Given the description of an element on the screen output the (x, y) to click on. 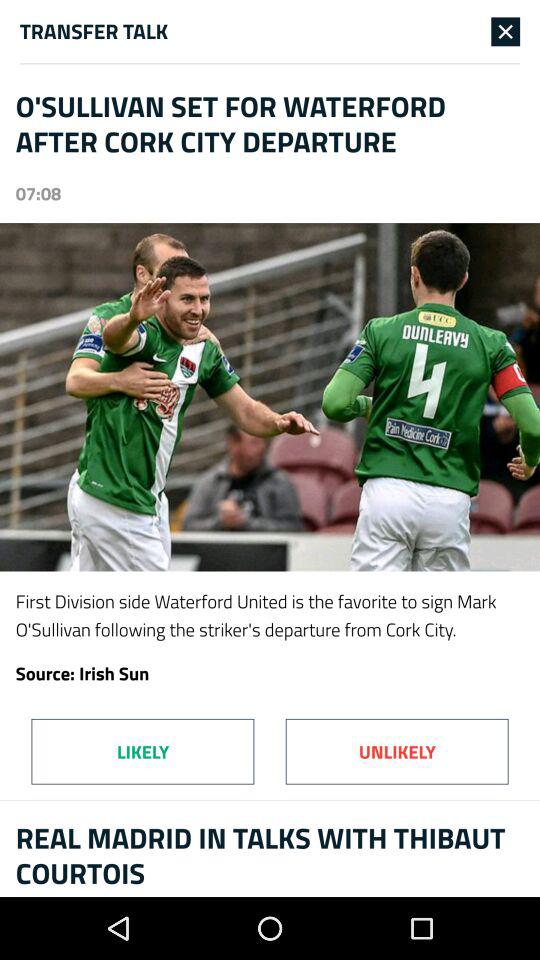
tap item above the real madrid in item (142, 751)
